Given the description of an element on the screen output the (x, y) to click on. 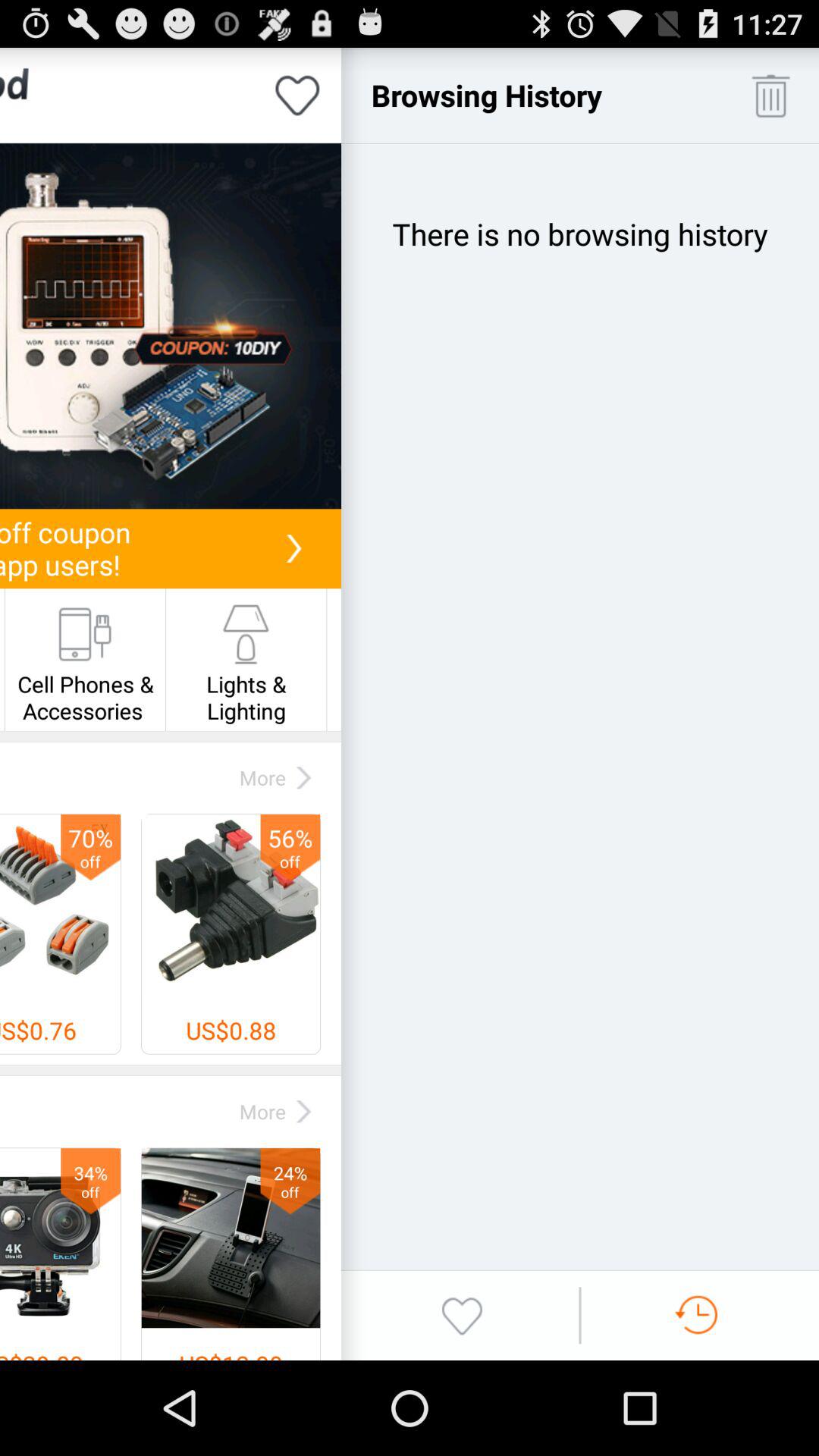
view favorites (461, 1315)
